Given the description of an element on the screen output the (x, y) to click on. 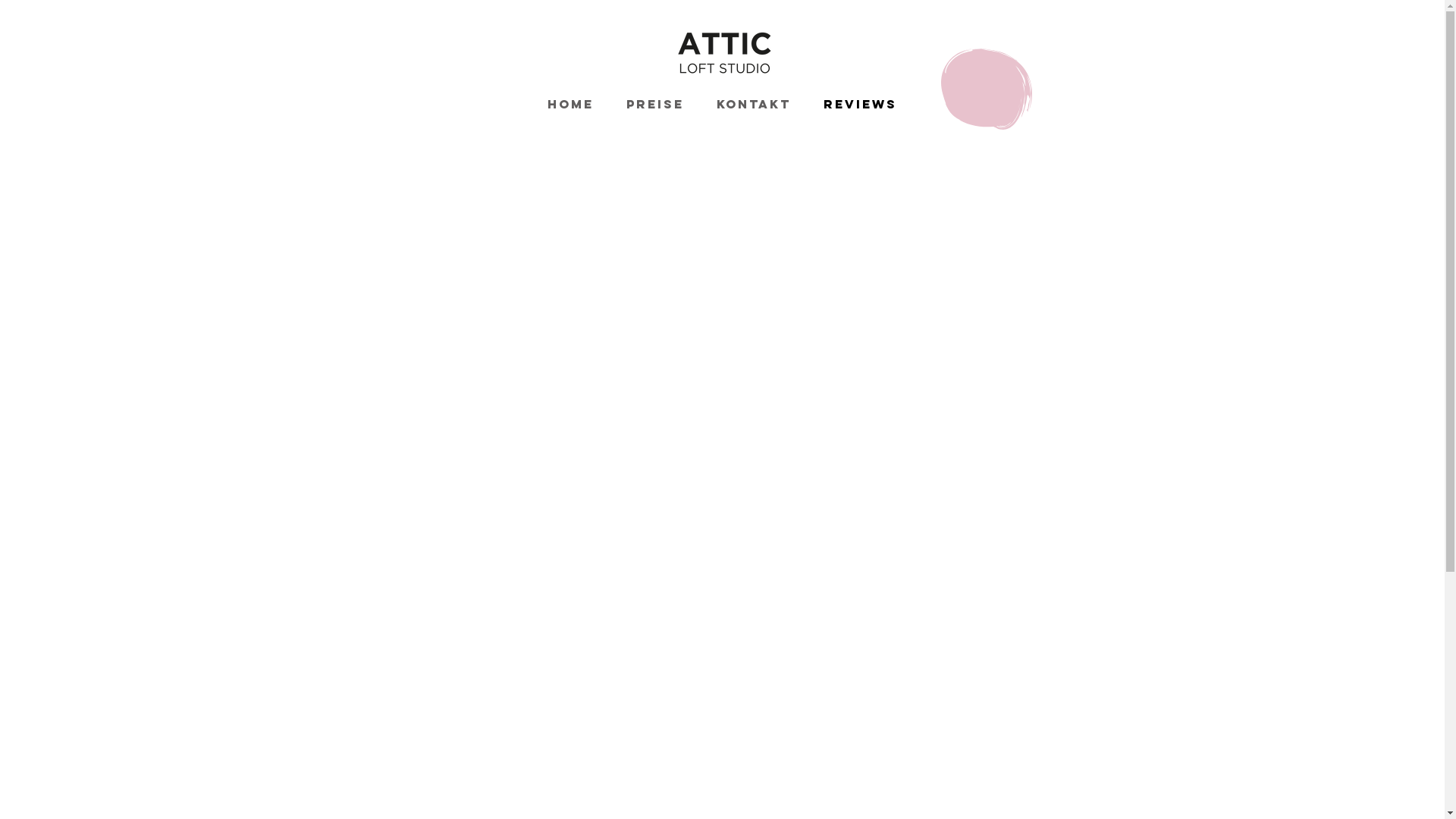
REVIEWS Element type: text (859, 103)
PREISE Element type: text (654, 103)
KONTAKT Element type: text (753, 103)
HOME Element type: text (570, 103)
